Given the description of an element on the screen output the (x, y) to click on. 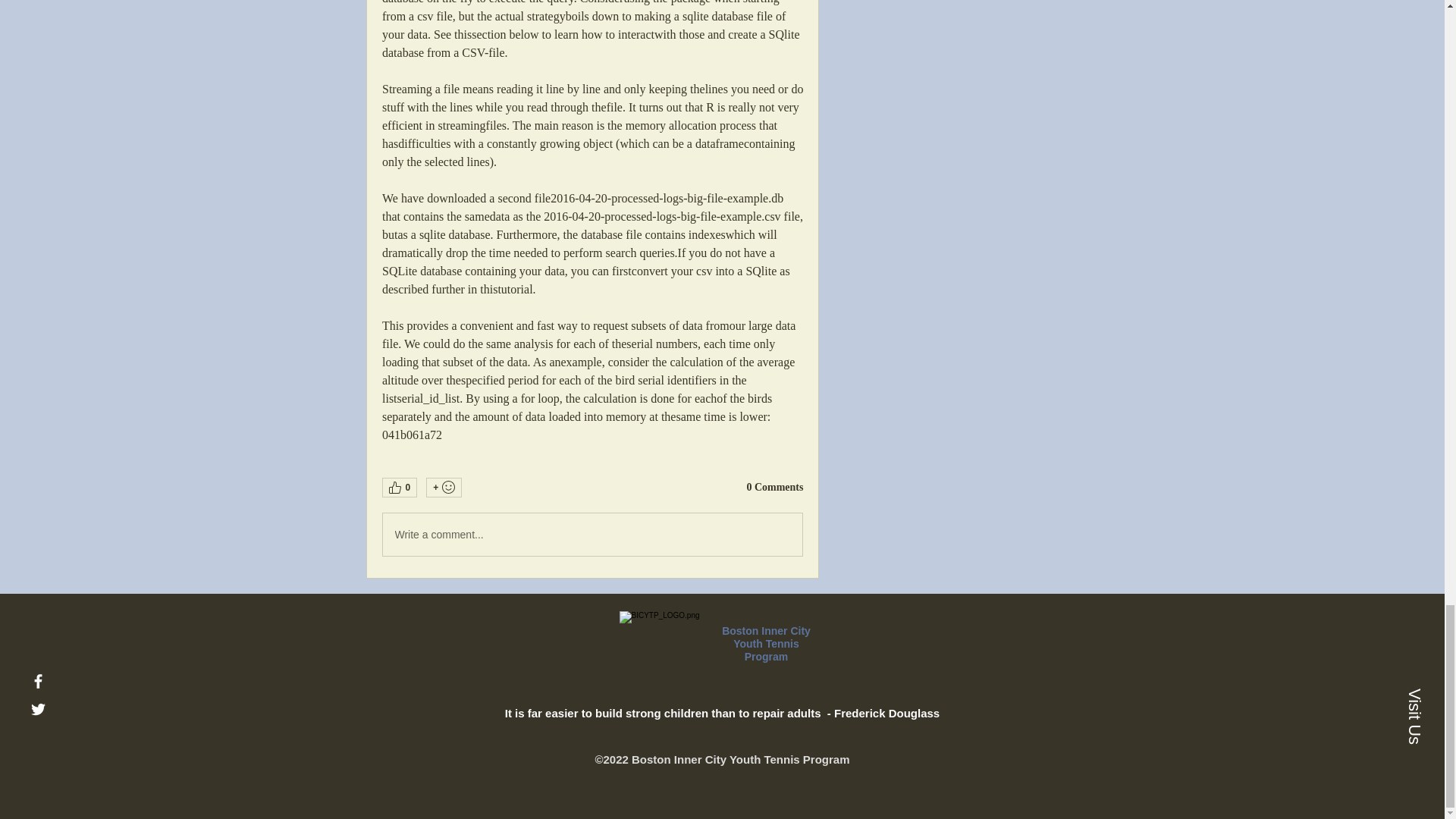
0 Comments (774, 487)
Boston Inner City Youth Tennis Program (766, 643)
Write a comment... (591, 534)
